Given the description of an element on the screen output the (x, y) to click on. 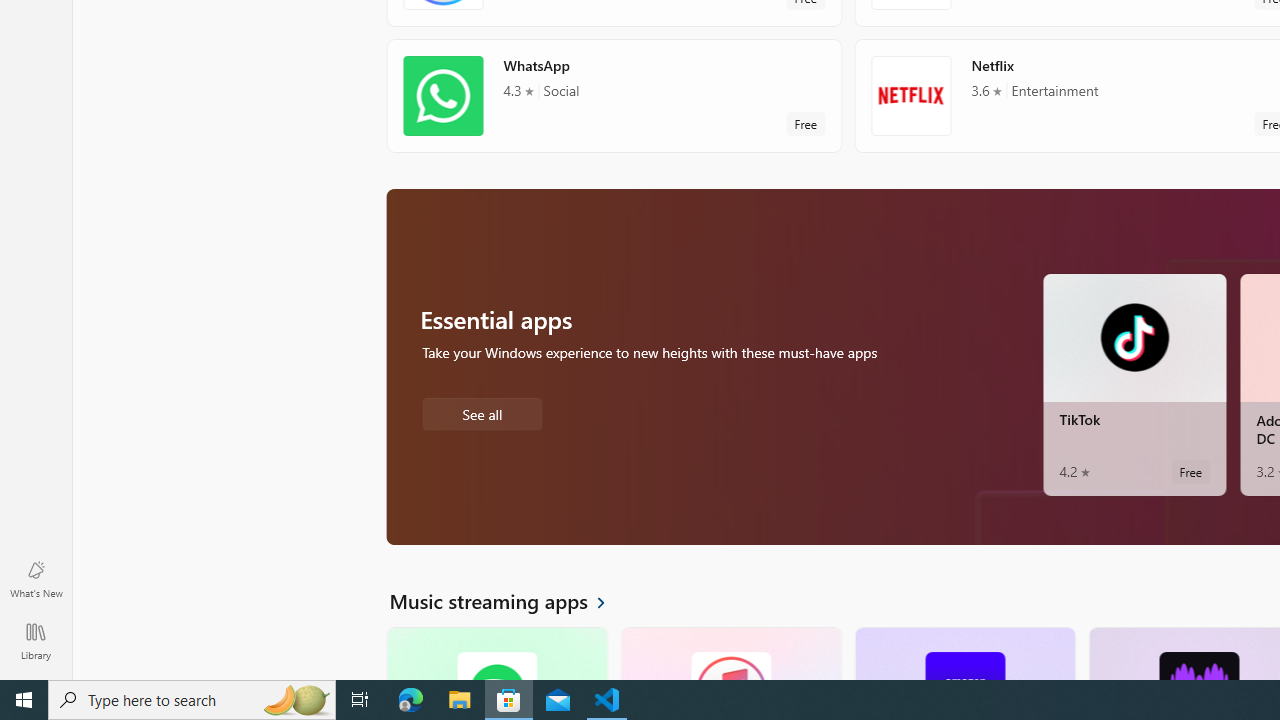
See all  Music streaming apps (509, 600)
TikTok. Average rating of 4.2 out of five stars. Free   (1134, 384)
WhatsApp. Average rating of 4.3 out of five stars. Free   (614, 95)
iTunes. Average rating of 2.5 out of five stars. Free   (730, 653)
See all  Essential apps (481, 412)
